Given the description of an element on the screen output the (x, y) to click on. 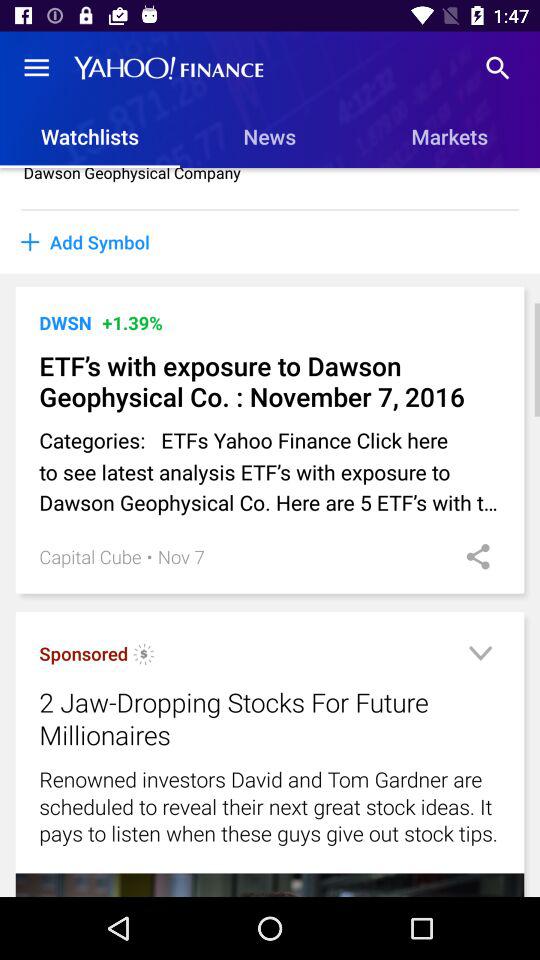
click the dwsn icon (65, 322)
